Given the description of an element on the screen output the (x, y) to click on. 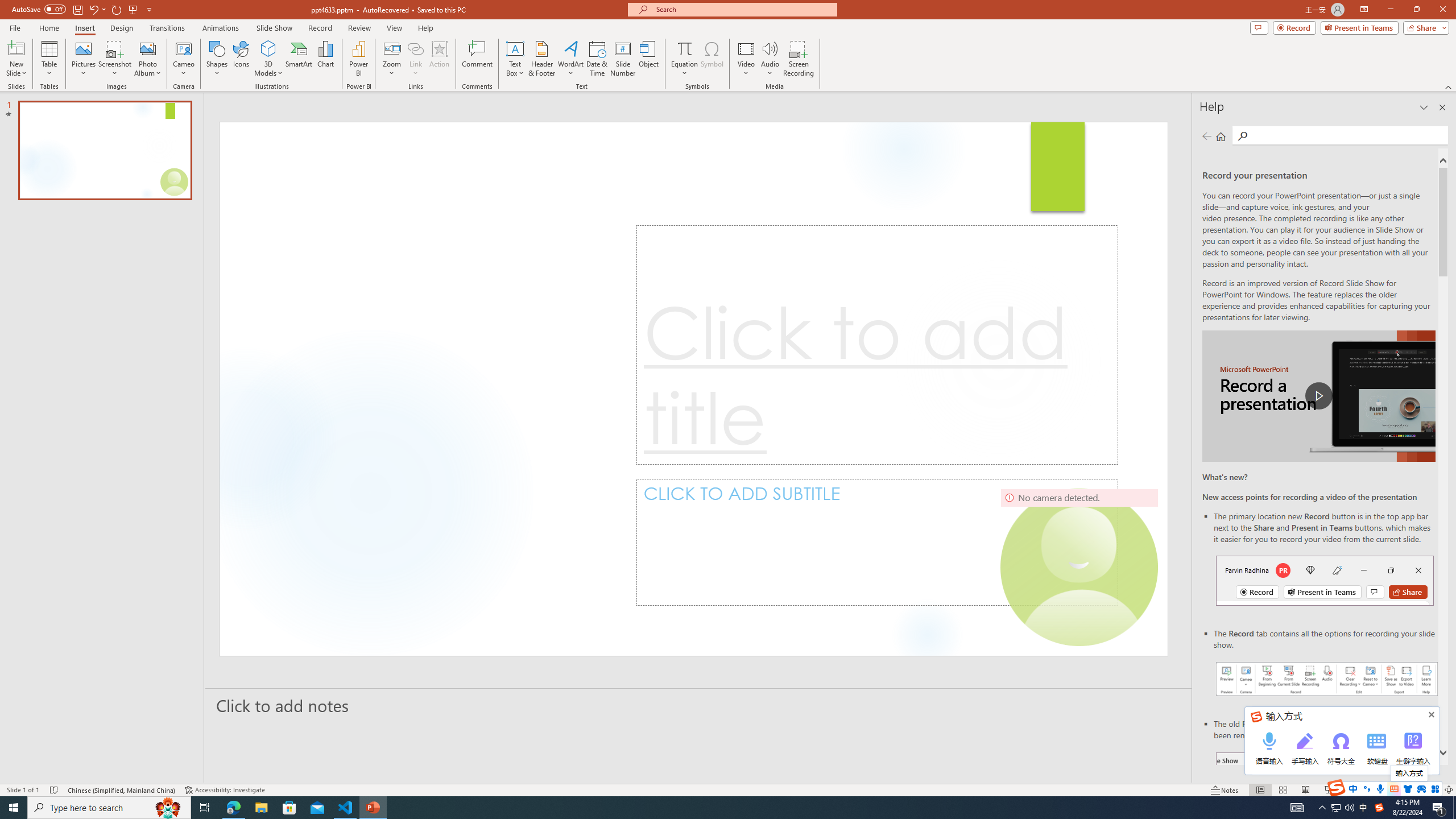
Chart... (325, 58)
Screen Recording... (798, 58)
New Photo Album... (147, 48)
Record your presentations screenshot one (1326, 678)
Power BI (358, 58)
